Given the description of an element on the screen output the (x, y) to click on. 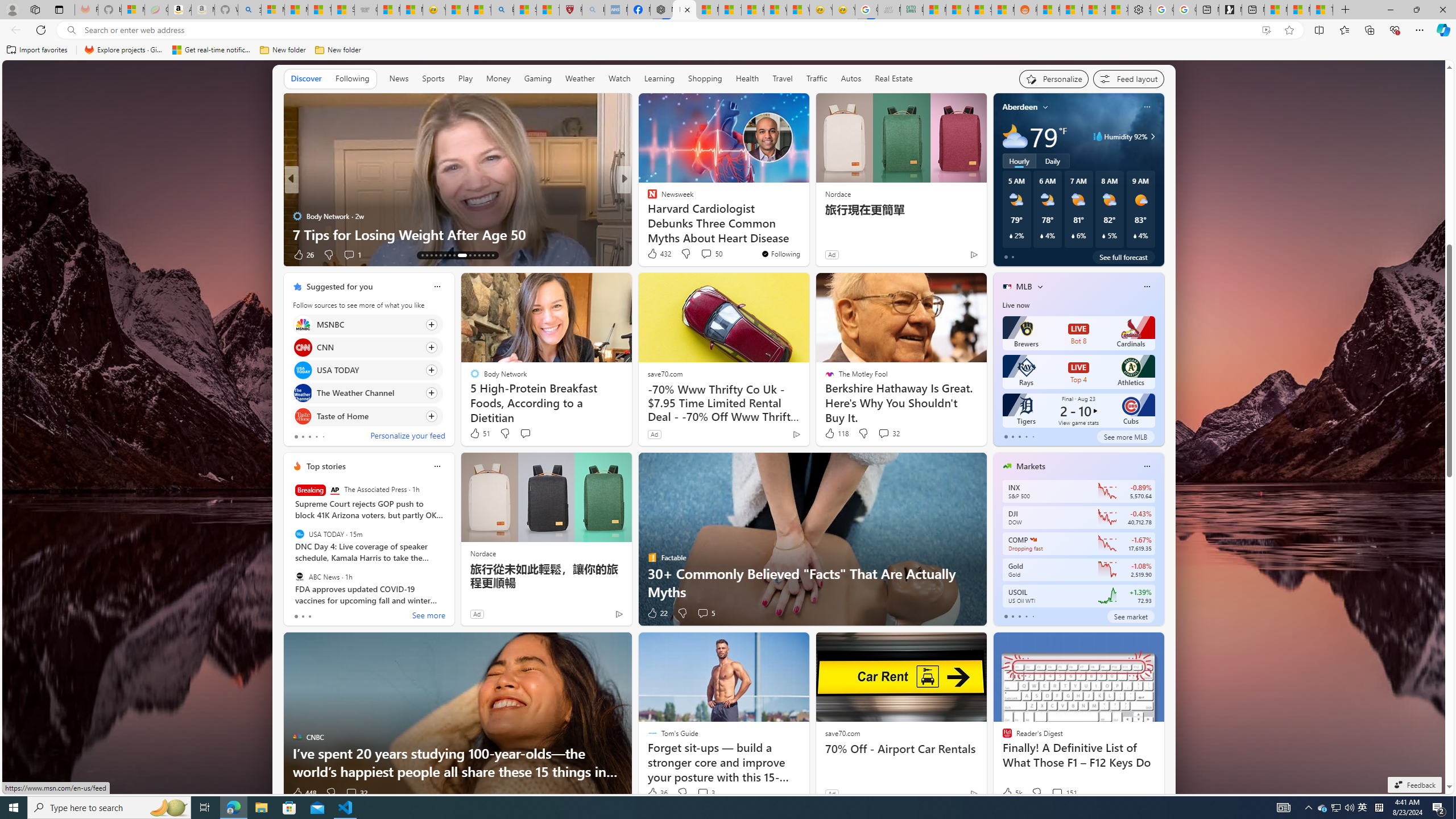
Address and search bar (669, 29)
My location (1045, 106)
Personalize your feed" (1054, 78)
Traffic (816, 78)
Hourly (1018, 160)
Microsoft Start (1298, 9)
Bing (502, 9)
View comments 32 Comment (355, 792)
70% Off - Airport Car Rentals (900, 748)
Search icon (70, 29)
